Given the description of an element on the screen output the (x, y) to click on. 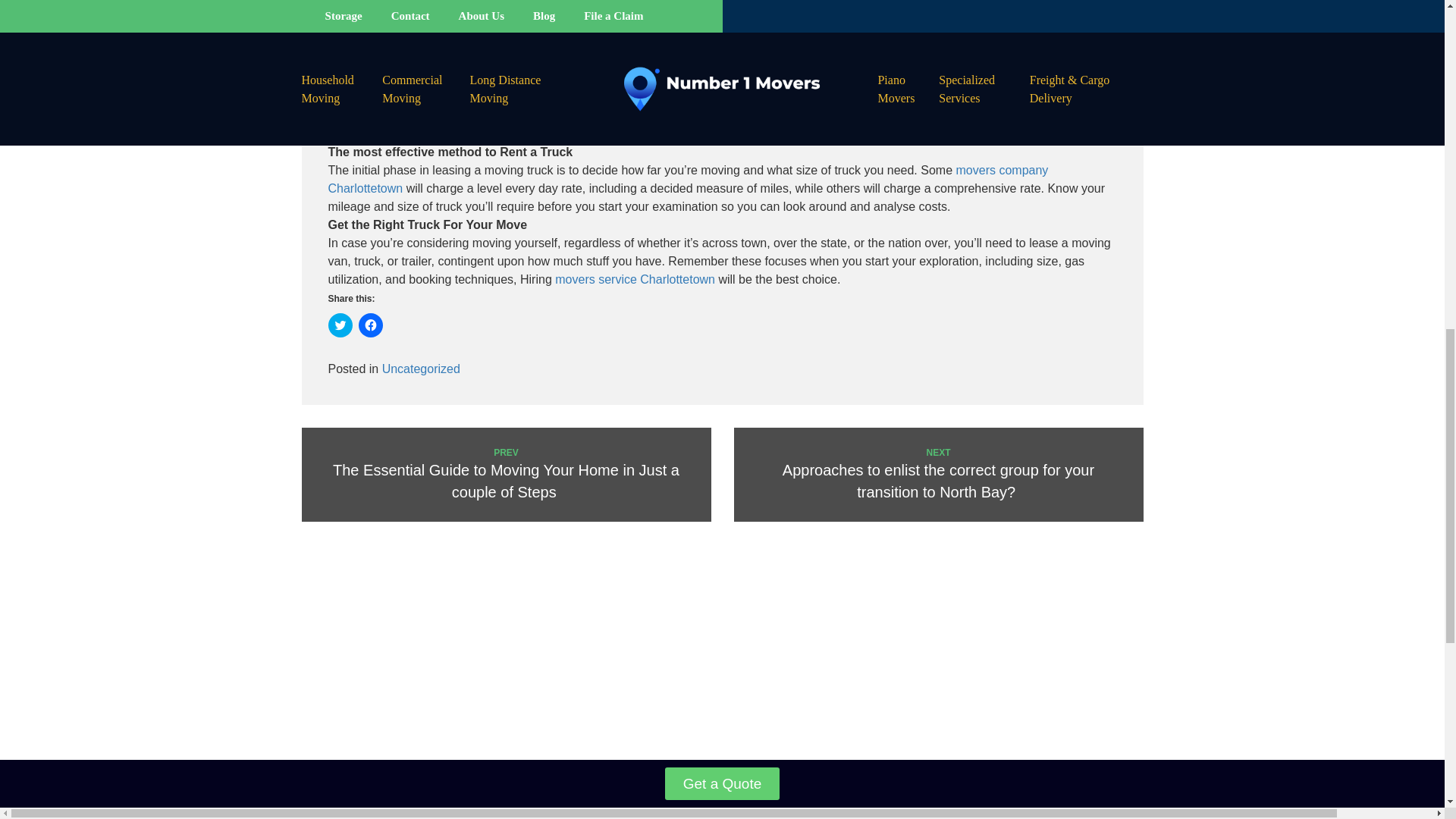
Click to share on Facebook (369, 324)
Uncategorized (420, 368)
movers Charlottetown (843, 115)
movers company Charlottetown (687, 178)
movers service Charlottetown (634, 278)
Click to share on Twitter (339, 324)
